Given the description of an element on the screen output the (x, y) to click on. 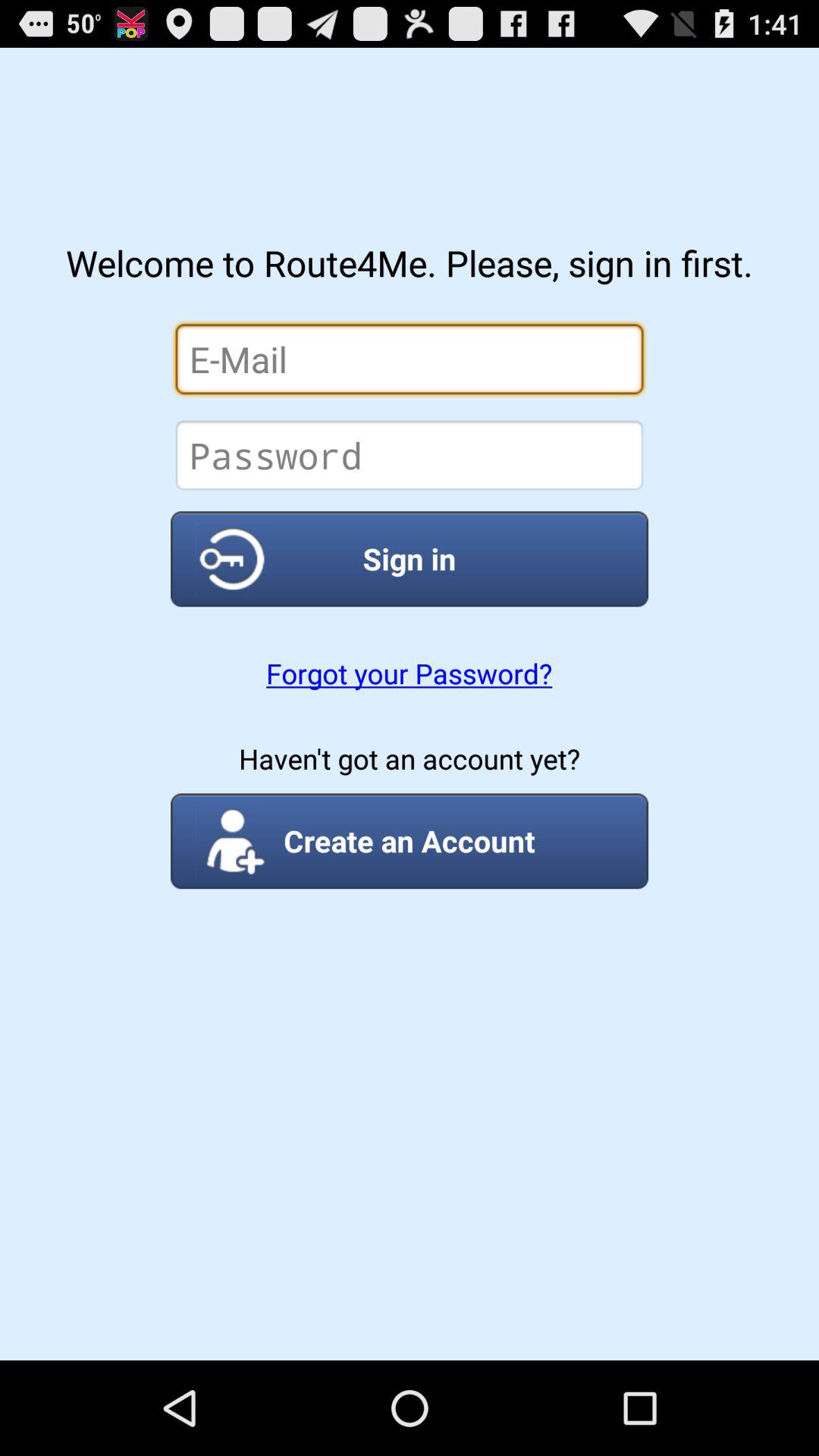
password field login (409, 455)
